Given the description of an element on the screen output the (x, y) to click on. 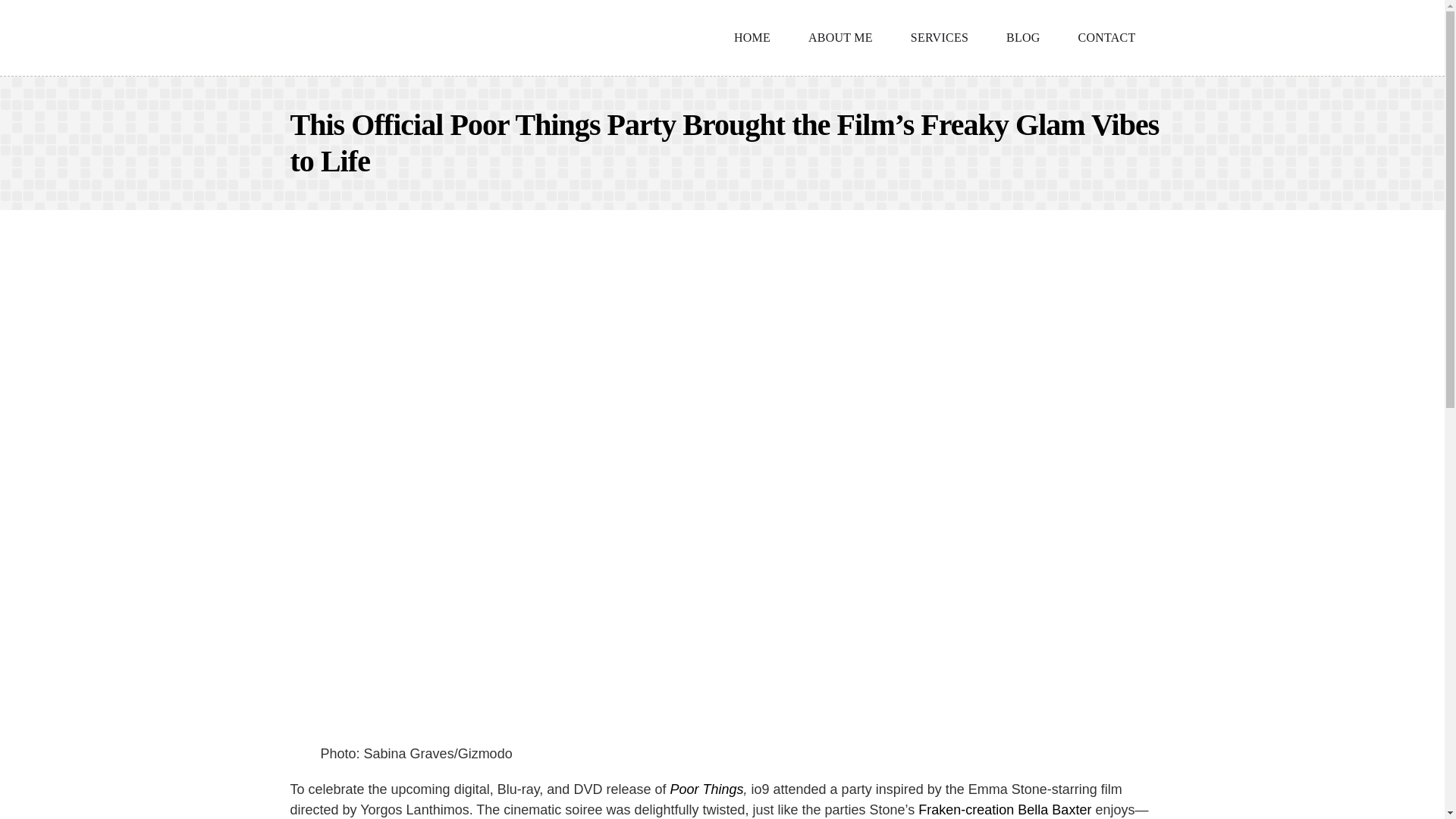
ABOUT ME (840, 38)
Poor Things (705, 789)
HOME (751, 38)
CONTACT (1106, 38)
BLOG (1023, 38)
Fraken-creation Bella Baxter (1004, 809)
SERVICES (939, 38)
